Given the description of an element on the screen output the (x, y) to click on. 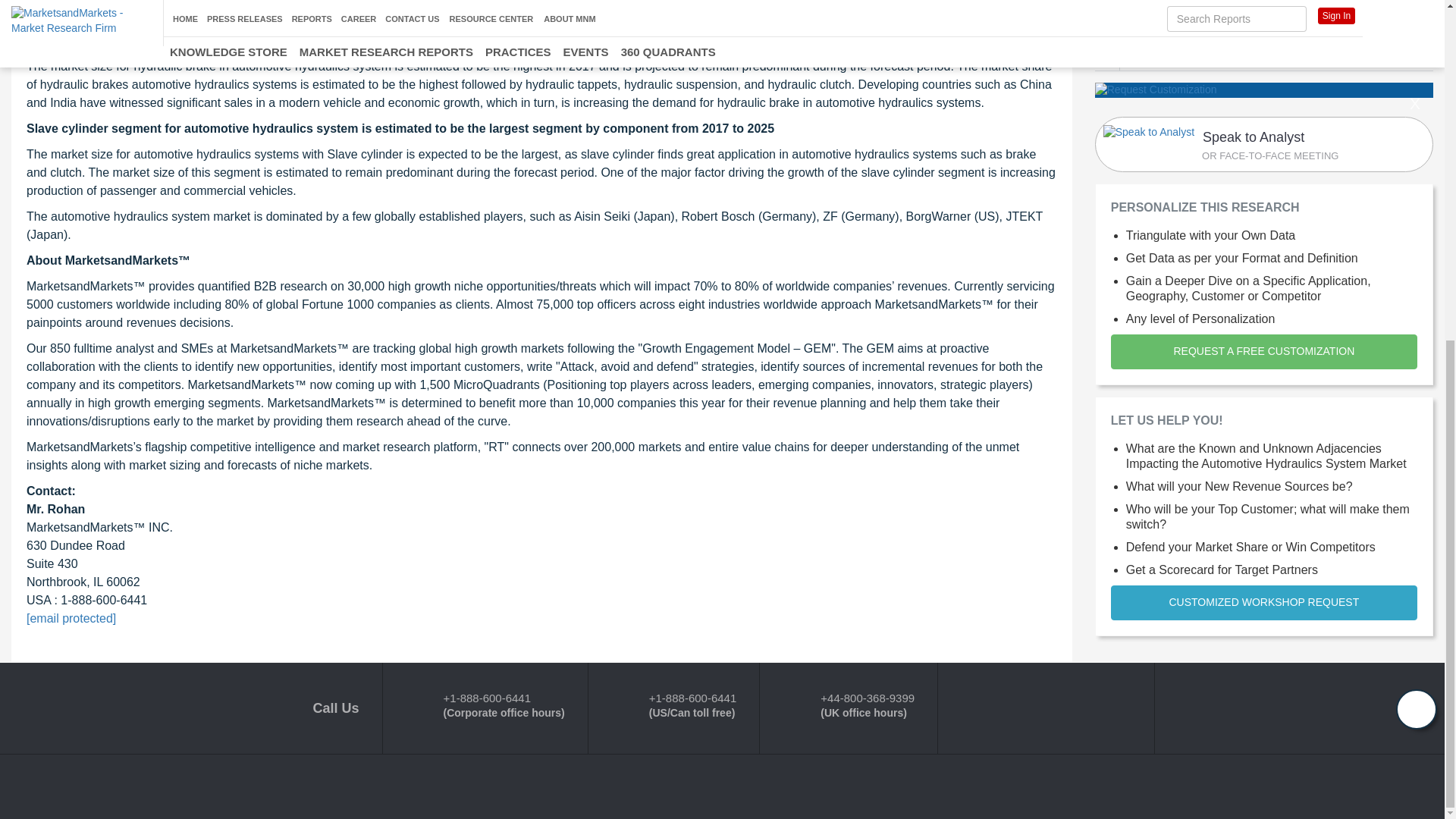
share to twitter (1192, 54)
REQUEST BUNDLE REPORTS (1263, 3)
CUSTOMIZED WORKSHOP REQUEST (1263, 602)
share to linkedin (1203, 54)
REQUEST A FREE CUSTOMIZATION (1263, 351)
Email (1263, 144)
share to facebook (1106, 55)
